Given the description of an element on the screen output the (x, y) to click on. 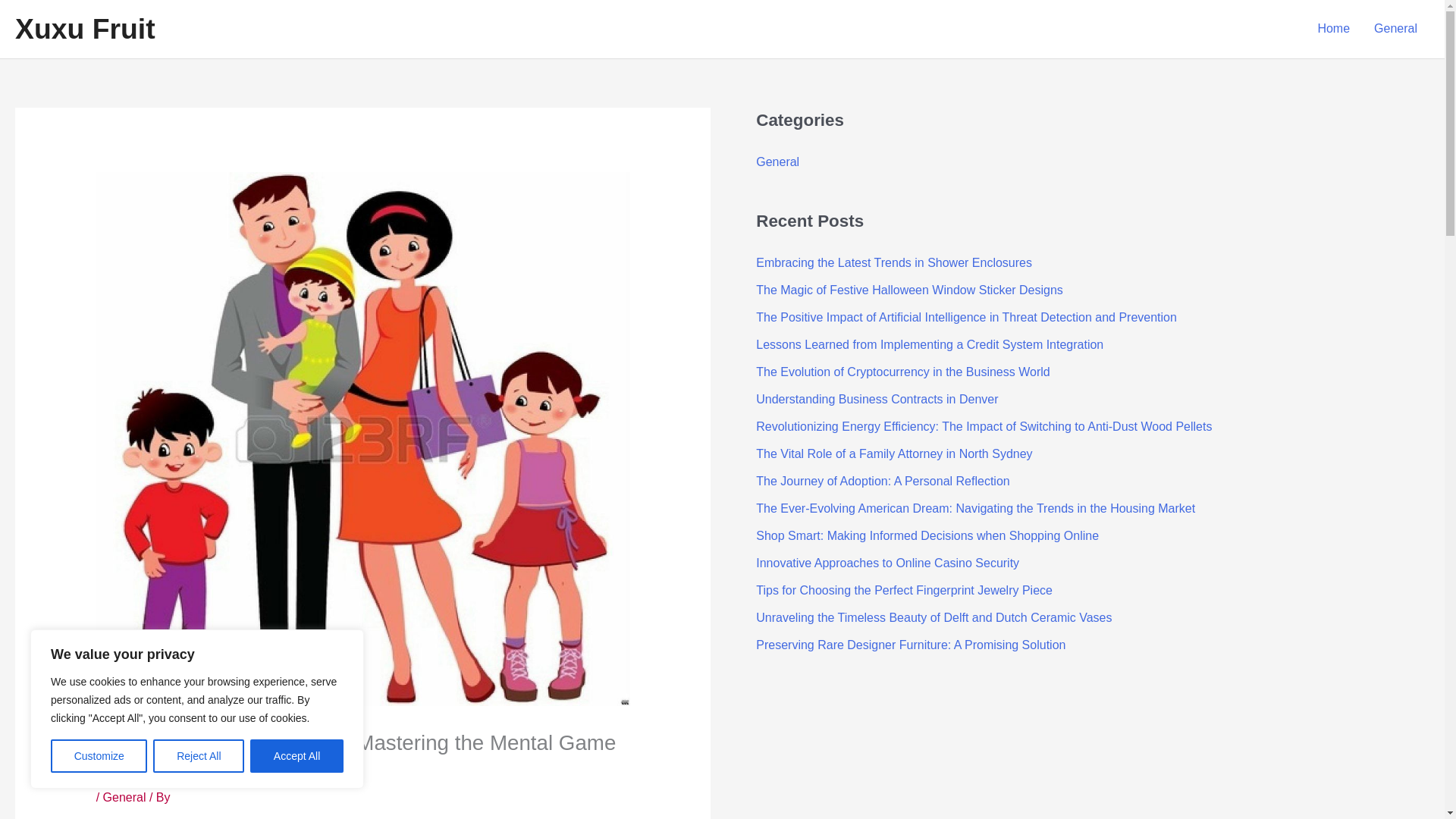
General (125, 797)
The Magic of Festive Halloween Window Sticker Designs (908, 289)
Understanding Business Contracts in Denver (876, 399)
Embracing the Latest Trends in Shower Enclosures (893, 262)
General (1395, 28)
General (777, 161)
Reject All (198, 756)
The Evolution of Cryptocurrency in the Business World (902, 371)
Accept All (296, 756)
Home (1332, 28)
Customize (98, 756)
Xuxu Fruit (84, 29)
